Given the description of an element on the screen output the (x, y) to click on. 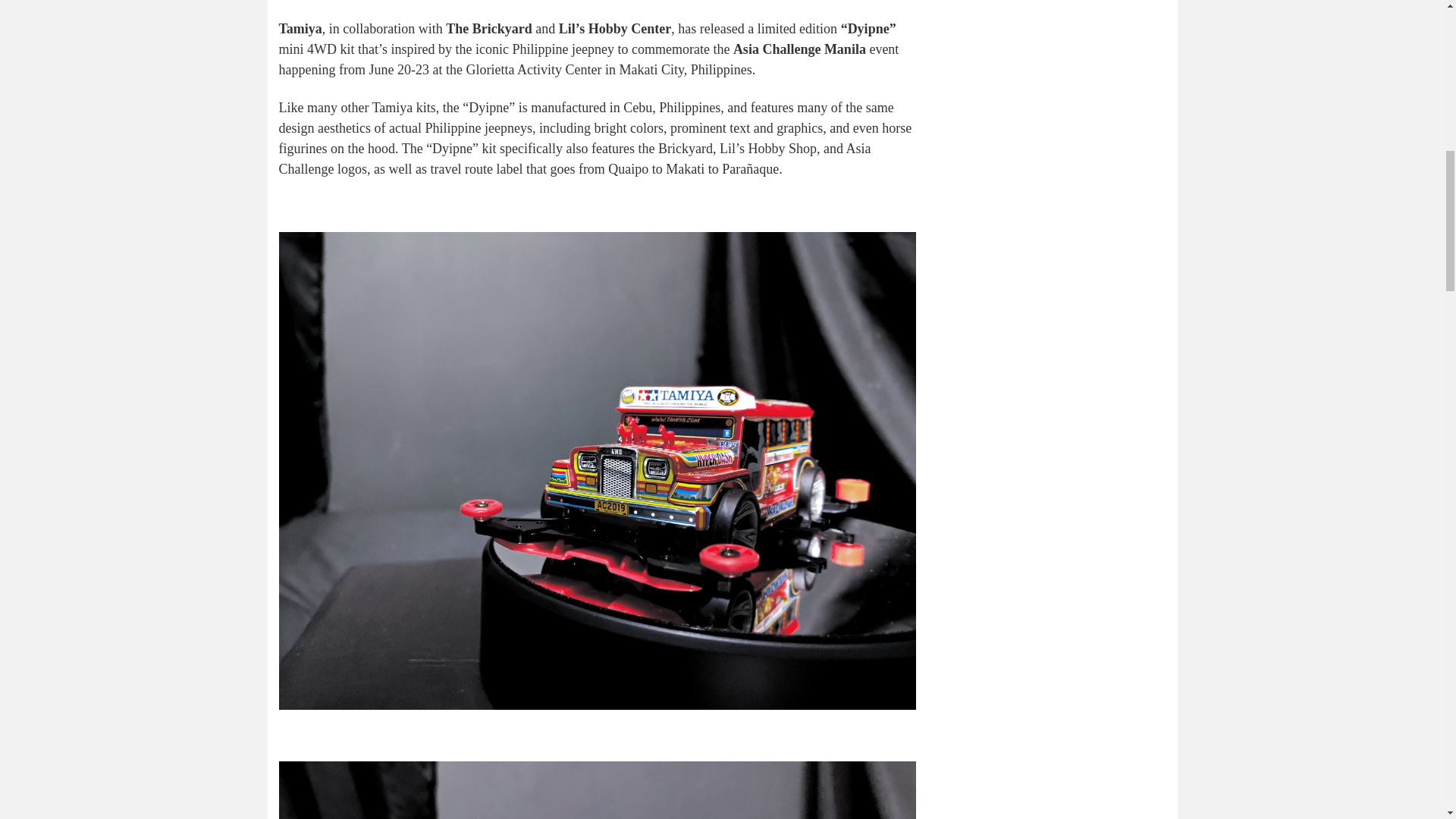
Advertisement (1052, 94)
